Given the description of an element on the screen output the (x, y) to click on. 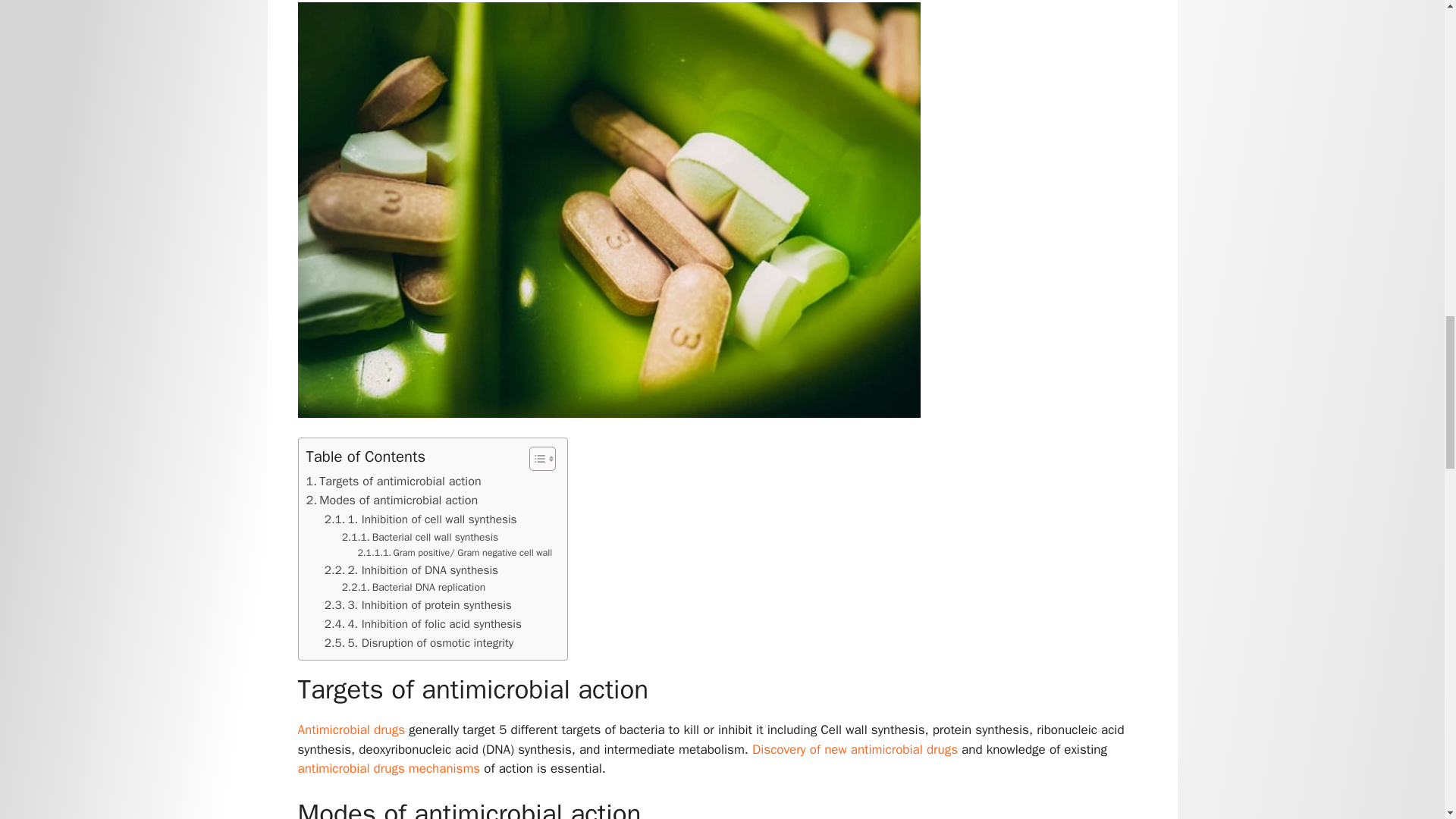
1. Inhibition of cell wall synthesis (420, 519)
3. Inhibition of protein synthesis (418, 605)
3. Inhibition of protein synthesis (418, 605)
Modes of antimicrobial action (392, 500)
Bacterial DNA replication (414, 587)
5. Disruption of osmotic integrity (418, 642)
Bacterial DNA replication (414, 587)
Discovery of new antimicrobial drugs (855, 749)
antimicrobial drugs mechanisms (388, 768)
Bacterial cell wall synthesis (419, 537)
Targets of antimicrobial action (393, 481)
Targets of antimicrobial action (393, 481)
4. Inhibition of folic acid synthesis (422, 624)
4. Inhibition of folic acid synthesis (422, 624)
Modes of antimicrobial action (392, 500)
